Given the description of an element on the screen output the (x, y) to click on. 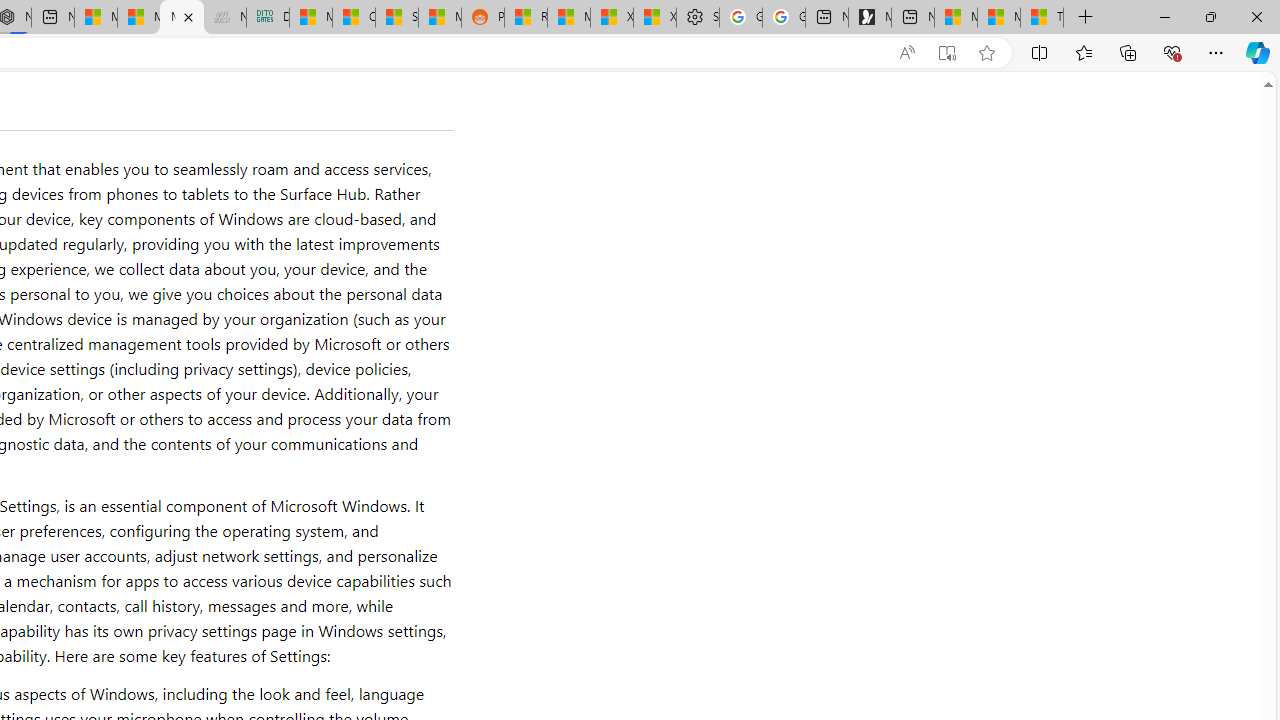
Microsoft Start Gaming (869, 17)
